Given the description of an element on the screen output the (x, y) to click on. 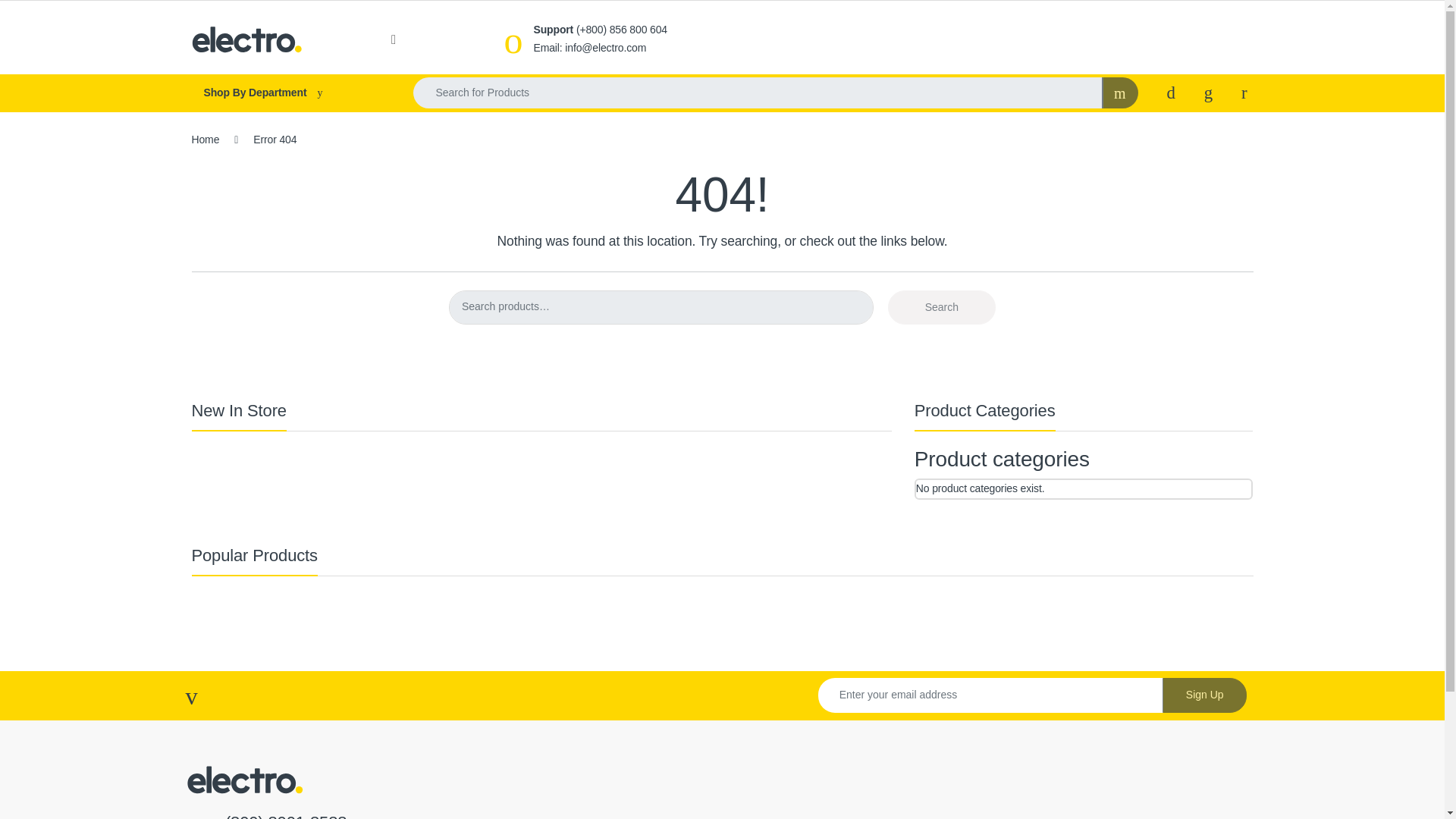
Home (204, 139)
Shop By Department (287, 93)
Search (941, 307)
Sign Up (1204, 695)
